Given the description of an element on the screen output the (x, y) to click on. 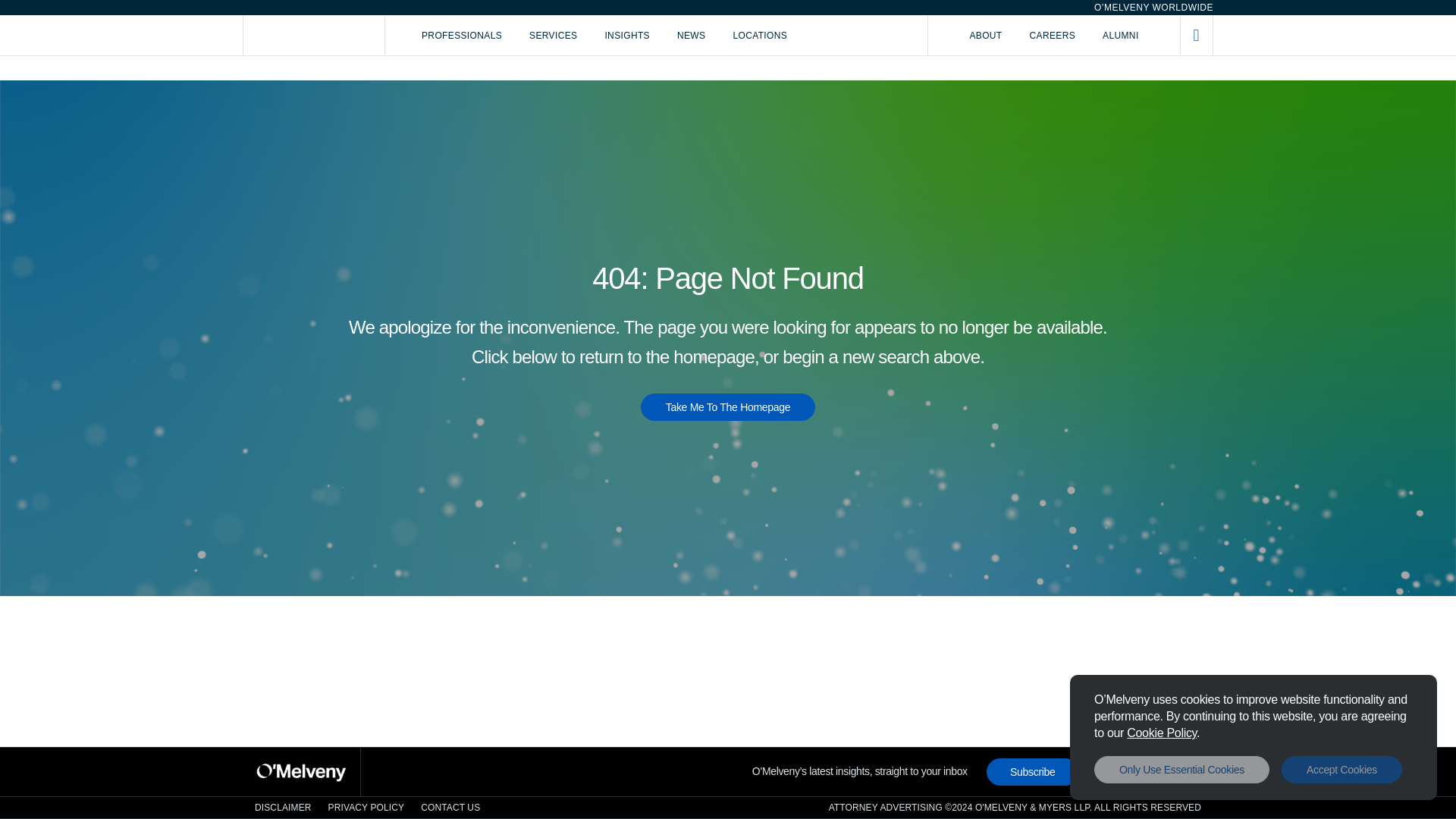
PRIVACY POLICY (366, 807)
Take Me To The Homepage (727, 406)
Only Use Essential Cookies (1181, 768)
CONTACT US (450, 807)
CAREERS (1052, 35)
Home Page (313, 35)
Cookie Policy (1161, 732)
Cookie Settings (1161, 732)
Subscribe (1032, 771)
DISCLAIMER (282, 807)
